Given the description of an element on the screen output the (x, y) to click on. 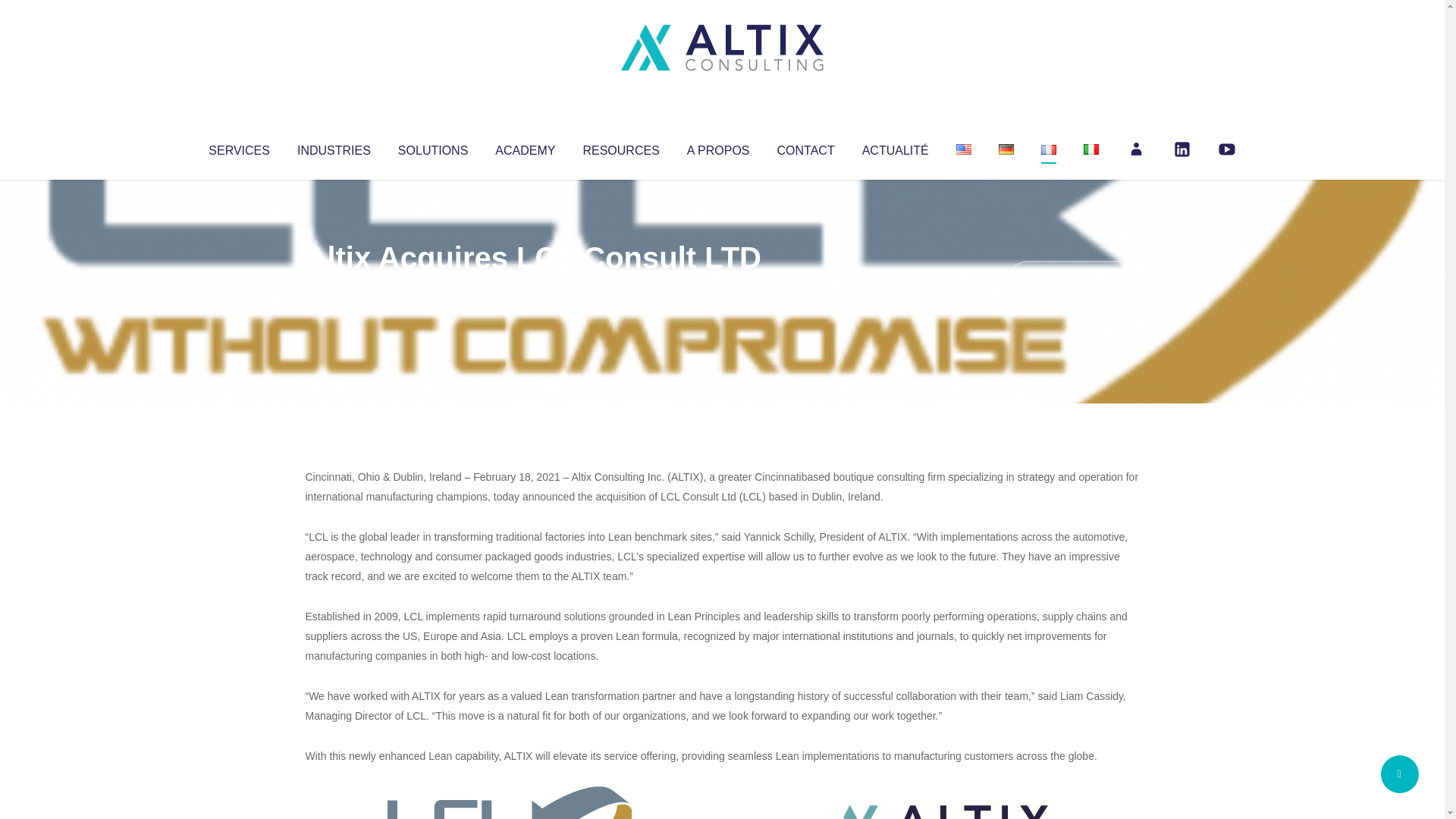
INDUSTRIES (334, 146)
RESOURCES (620, 146)
SOLUTIONS (432, 146)
Uncategorized (530, 287)
ACADEMY (524, 146)
Altix (333, 287)
A PROPOS (718, 146)
SERVICES (238, 146)
No Comments (1073, 278)
Articles par Altix (333, 287)
